Given the description of an element on the screen output the (x, y) to click on. 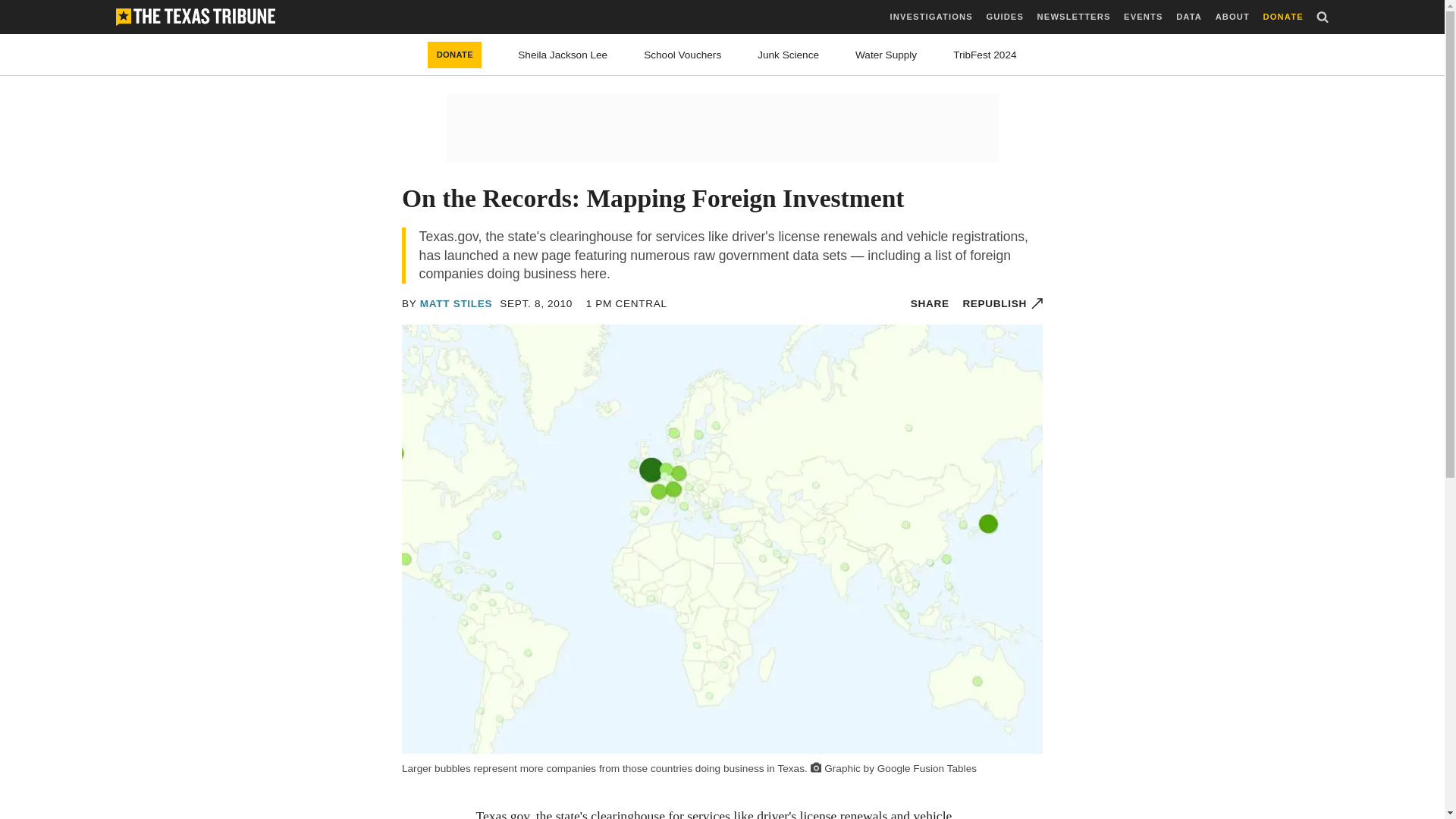
INVESTIGATIONS (930, 17)
ABOUT (1232, 17)
MATT STILES (456, 303)
School Vouchers (681, 54)
TribFest 2024 (984, 54)
DATA (1189, 17)
DONATE (1283, 17)
NEWSLETTERS (1073, 17)
2010-09-08 13:24 CDT (535, 303)
REPUBLISH (1002, 303)
EVENTS (1142, 17)
DONATE (454, 54)
Texas.gov (502, 813)
Sheila Jackson Lee (562, 54)
Water Supply (886, 54)
